Given the description of an element on the screen output the (x, y) to click on. 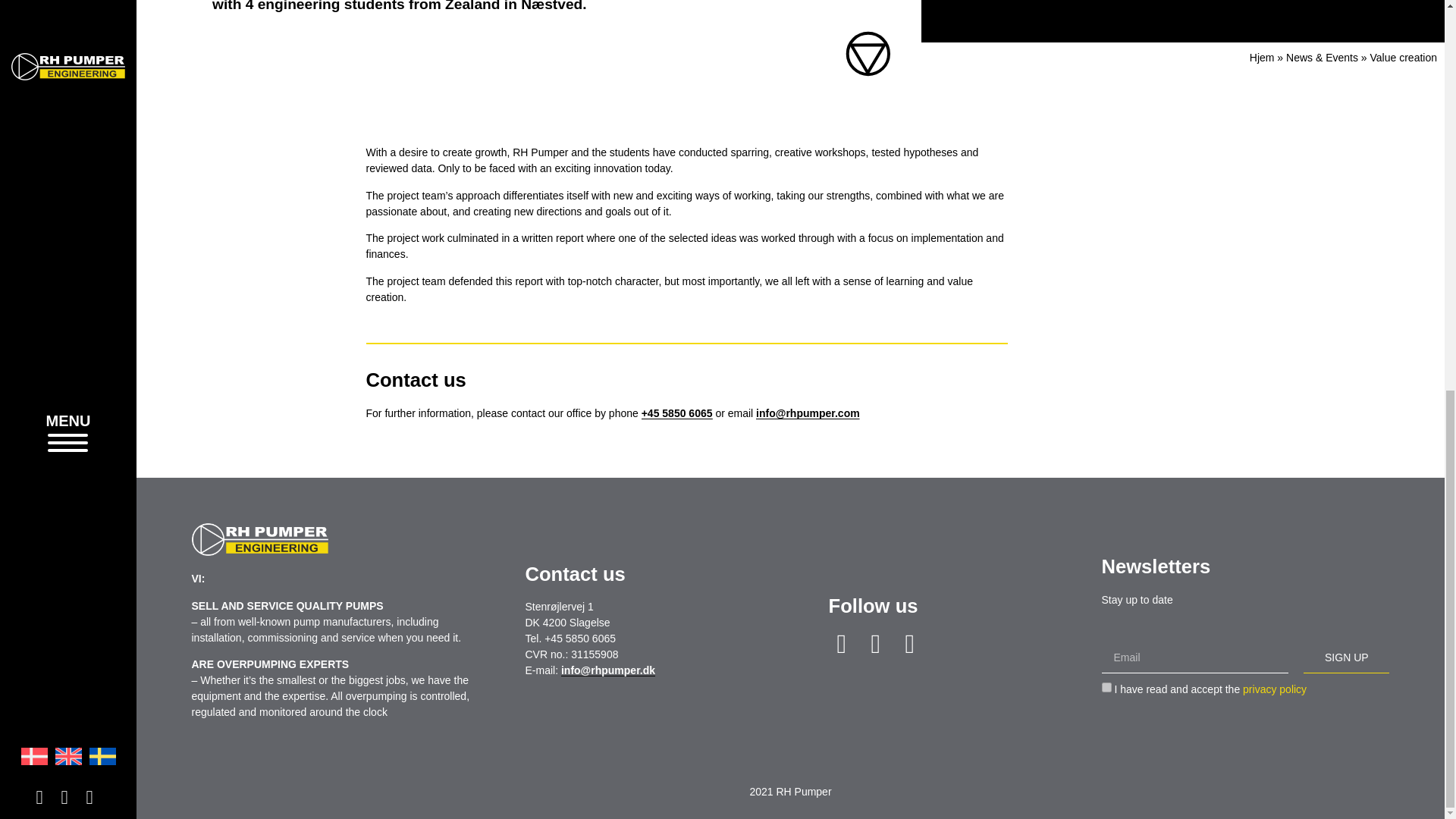
privacy policy (1274, 689)
Hjem (1262, 57)
on (1105, 687)
SIGN UP (1346, 657)
